Given the description of an element on the screen output the (x, y) to click on. 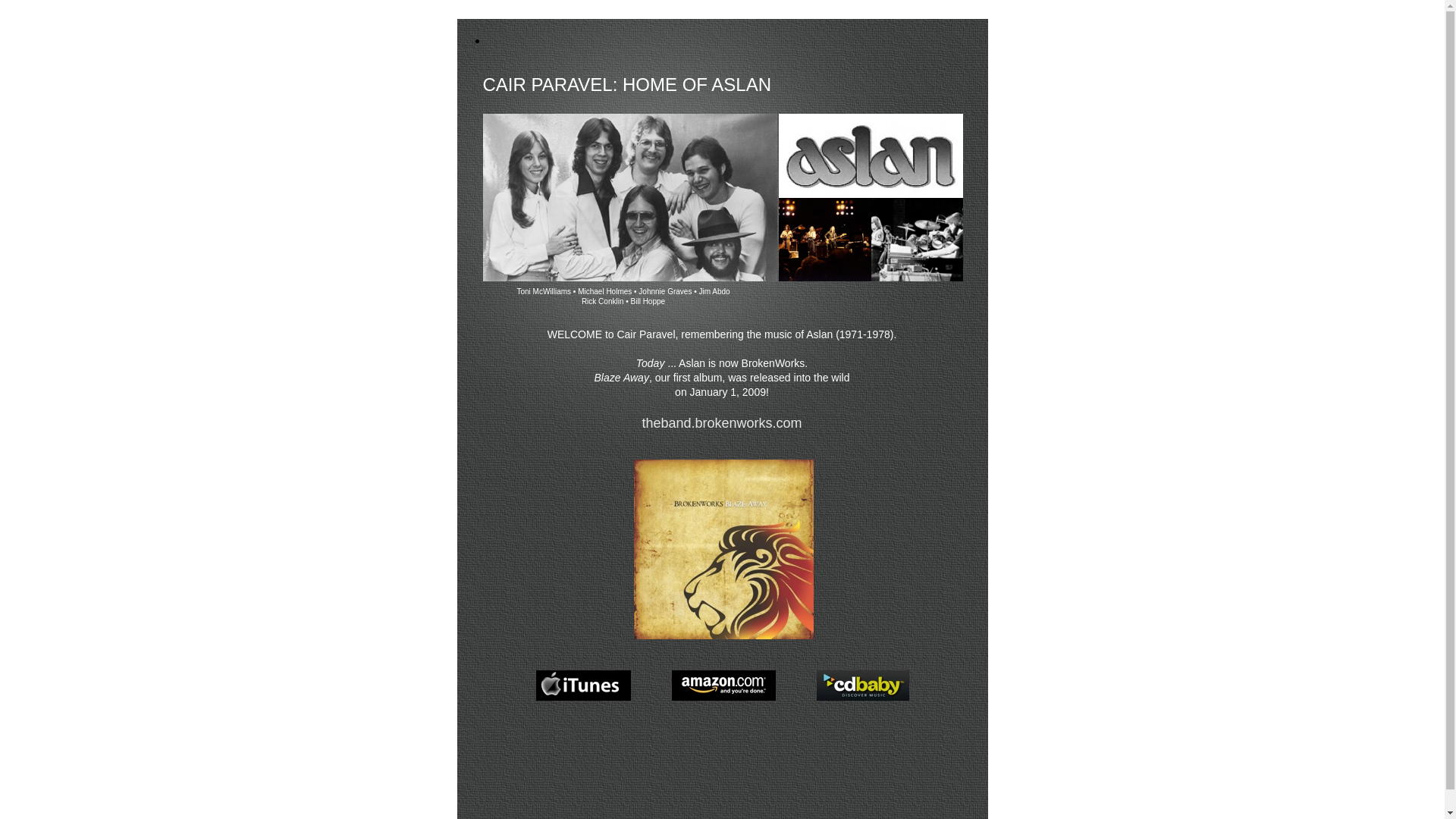
http://theband.brokenworks.com Element type: hover (723, 638)
http://www.cdbaby.com/cd/brokenworks Element type: hover (861, 699)
theband.brokenworks.com Element type: text (721, 422)
